Given the description of an element on the screen output the (x, y) to click on. 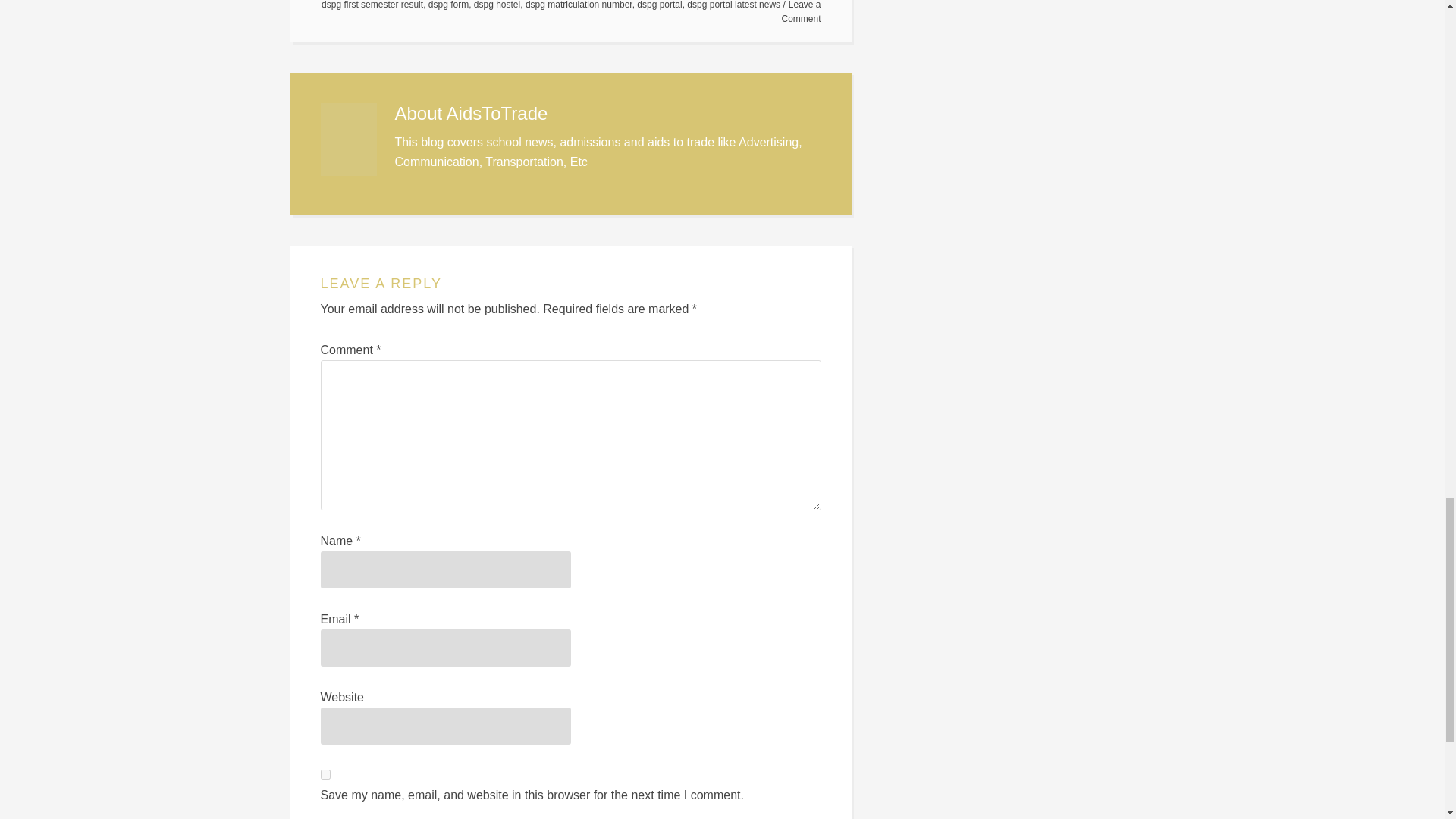
dspg portal (659, 4)
dspg form (448, 4)
yes (325, 774)
dspg matriculation number (578, 4)
dspg first semester result (372, 4)
dspg hostel (496, 4)
dspg portal latest news (733, 4)
Leave a Comment (800, 12)
